Given the description of an element on the screen output the (x, y) to click on. 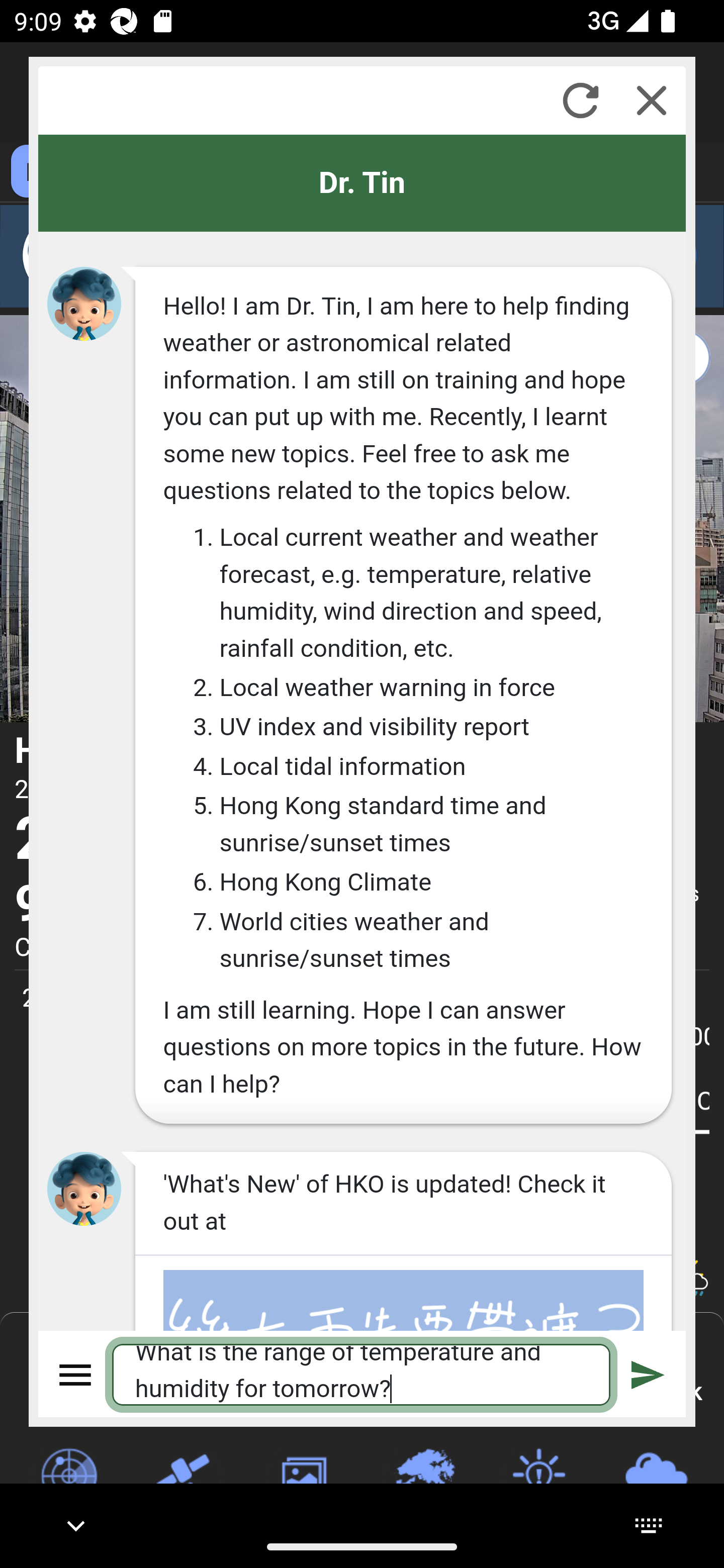
Refresh (580, 100)
Close (651, 100)
Menu (75, 1374)
Submit (648, 1374)
